Given the description of an element on the screen output the (x, y) to click on. 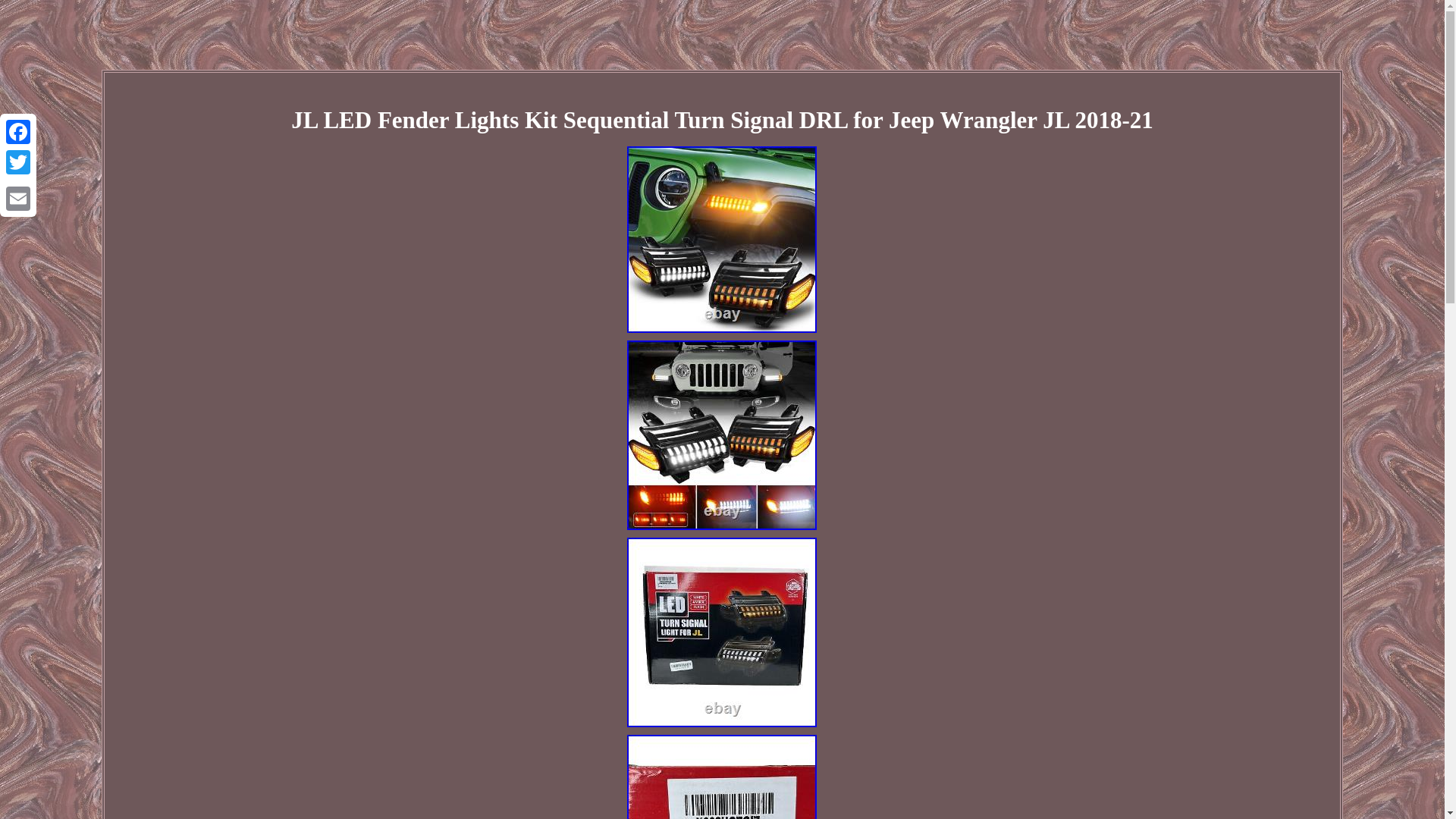
Email (17, 198)
Twitter (17, 162)
Facebook (17, 132)
